Given the description of an element on the screen output the (x, y) to click on. 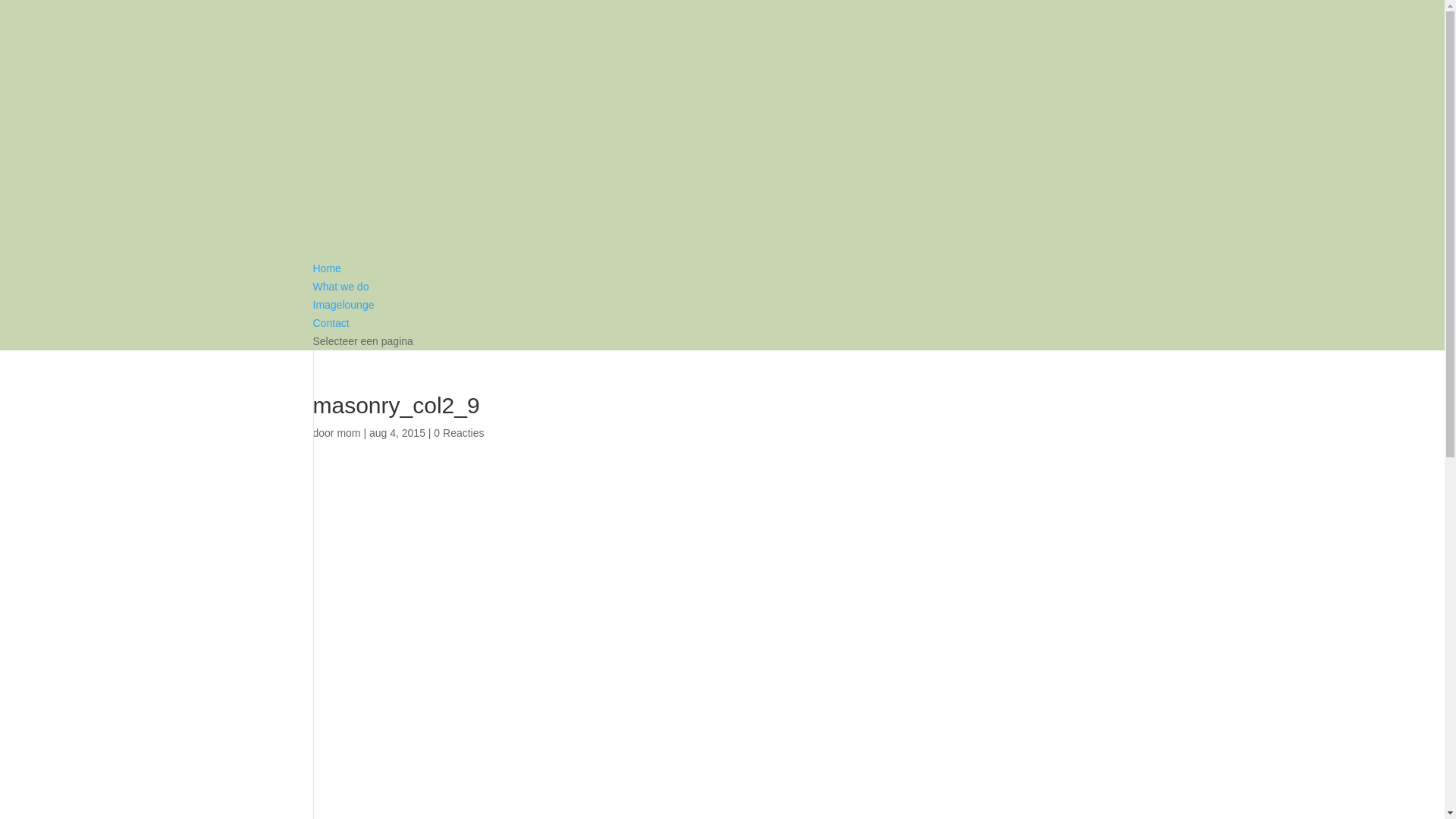
Contact Element type: text (330, 322)
0 Reacties Element type: text (458, 432)
Imagelounge Element type: text (342, 304)
mom Element type: text (348, 432)
What we do Element type: text (340, 286)
Home Element type: text (326, 268)
